Given the description of an element on the screen output the (x, y) to click on. 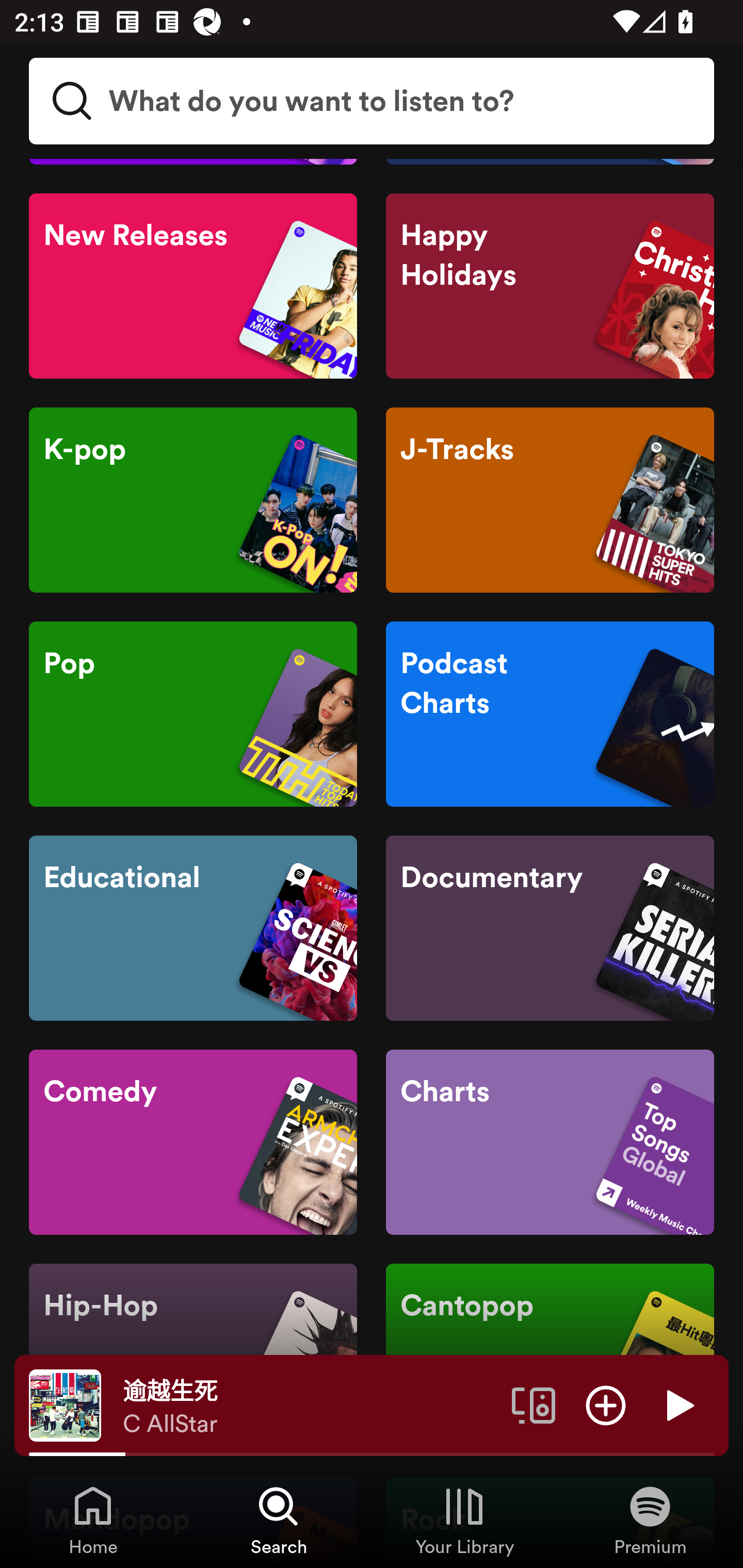
New Releases (192, 284)
Happy Holidays (549, 284)
K-pop (192, 499)
J-Tracks (549, 499)
Pop (192, 712)
Podcast Charts (549, 712)
Educational (192, 927)
Documentary (549, 927)
Comedy (192, 1141)
Charts (549, 1141)
逾越生死 C AllStar (309, 1405)
The cover art of the currently playing track (64, 1404)
Connect to a device. Opens the devices menu (533, 1404)
Add item (605, 1404)
Play (677, 1404)
Home, Tab 1 of 4 Home Home (92, 1519)
Search, Tab 2 of 4 Search Search (278, 1519)
Your Library, Tab 3 of 4 Your Library Your Library (464, 1519)
Premium, Tab 4 of 4 Premium Premium (650, 1519)
